Given the description of an element on the screen output the (x, y) to click on. 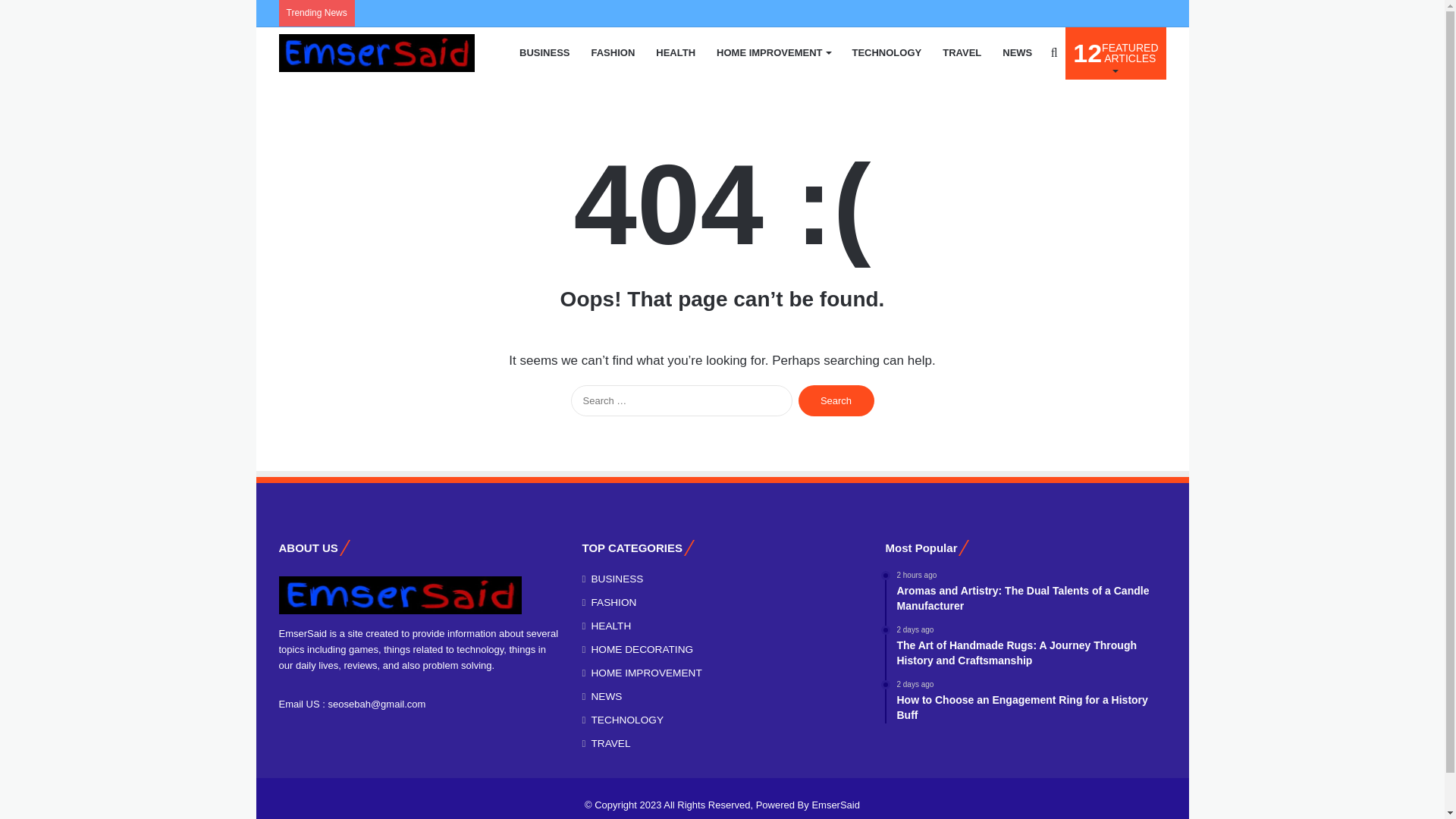
TRAVEL (961, 52)
Emser said (1115, 52)
TECHNOLOGY (376, 53)
HEALTH (886, 52)
NEWS (675, 52)
BUSINESS (1016, 52)
Search (543, 52)
Search (835, 400)
HOME IMPROVEMENT (835, 400)
FASHION (773, 52)
